Given the description of an element on the screen output the (x, y) to click on. 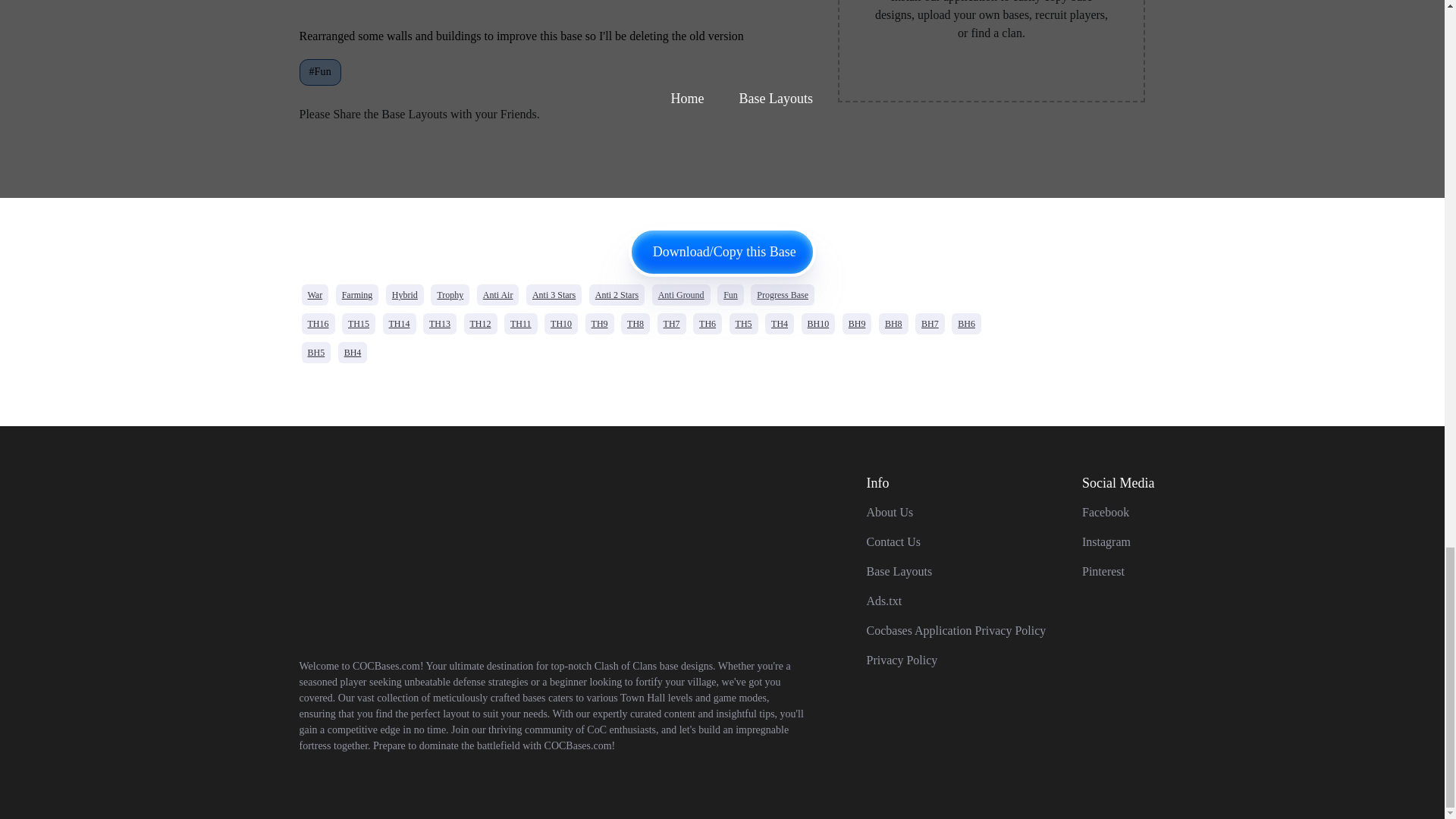
War (315, 294)
TH9 (599, 323)
TH12 (480, 323)
TH14 (397, 323)
TH13 (440, 323)
Anti Air (498, 294)
Farming (357, 294)
Anti 2 Stars (617, 294)
TH16 (317, 323)
TH11 (520, 323)
Trophy (449, 294)
Progress Base (782, 294)
Anti 3 Stars (552, 294)
Anti Ground (681, 294)
TH10 (561, 323)
